Given the description of an element on the screen output the (x, y) to click on. 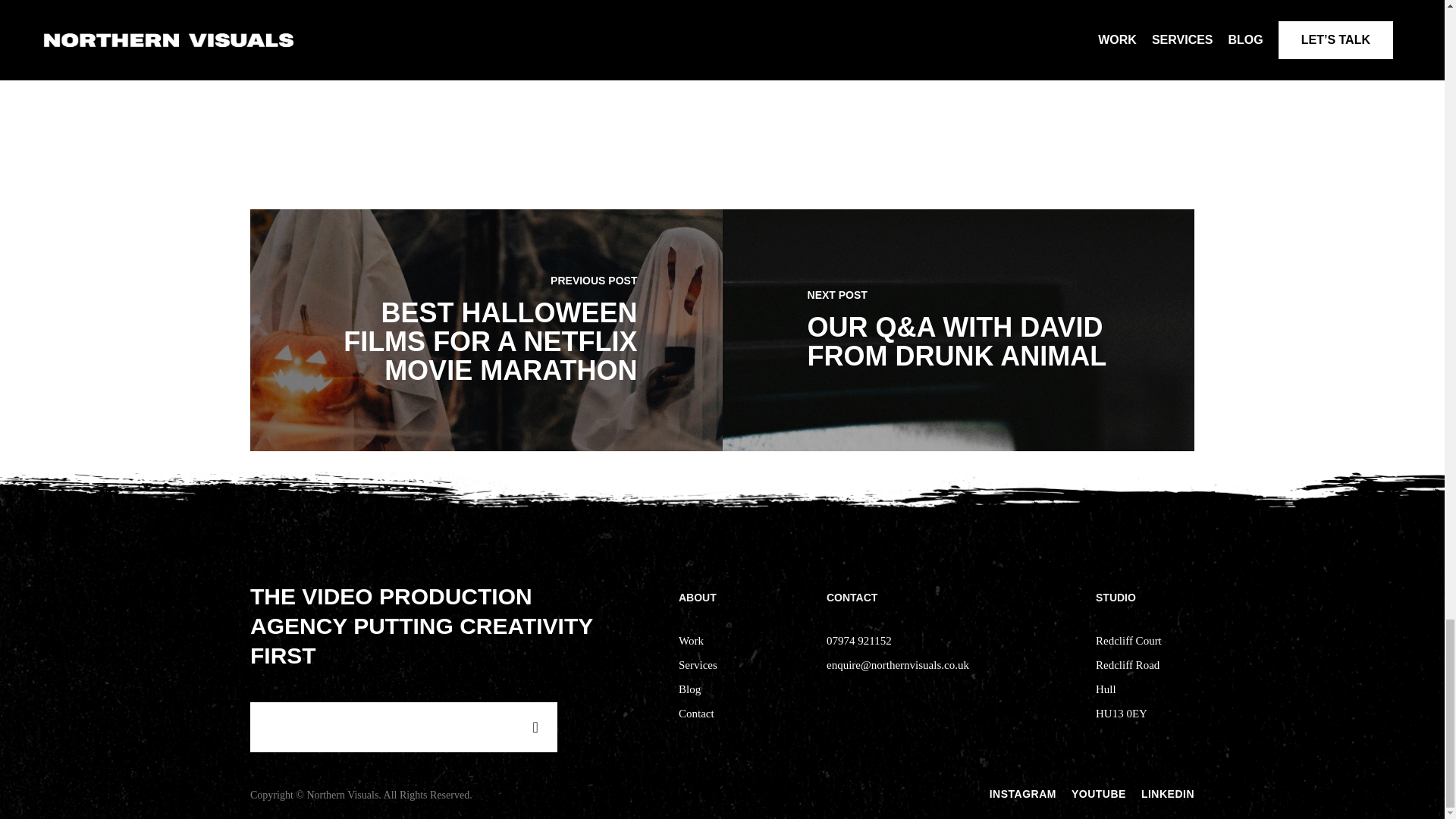
dropping us a message (494, 37)
Blog (689, 689)
Contact (696, 713)
Services (697, 664)
Work (690, 640)
